Given the description of an element on the screen output the (x, y) to click on. 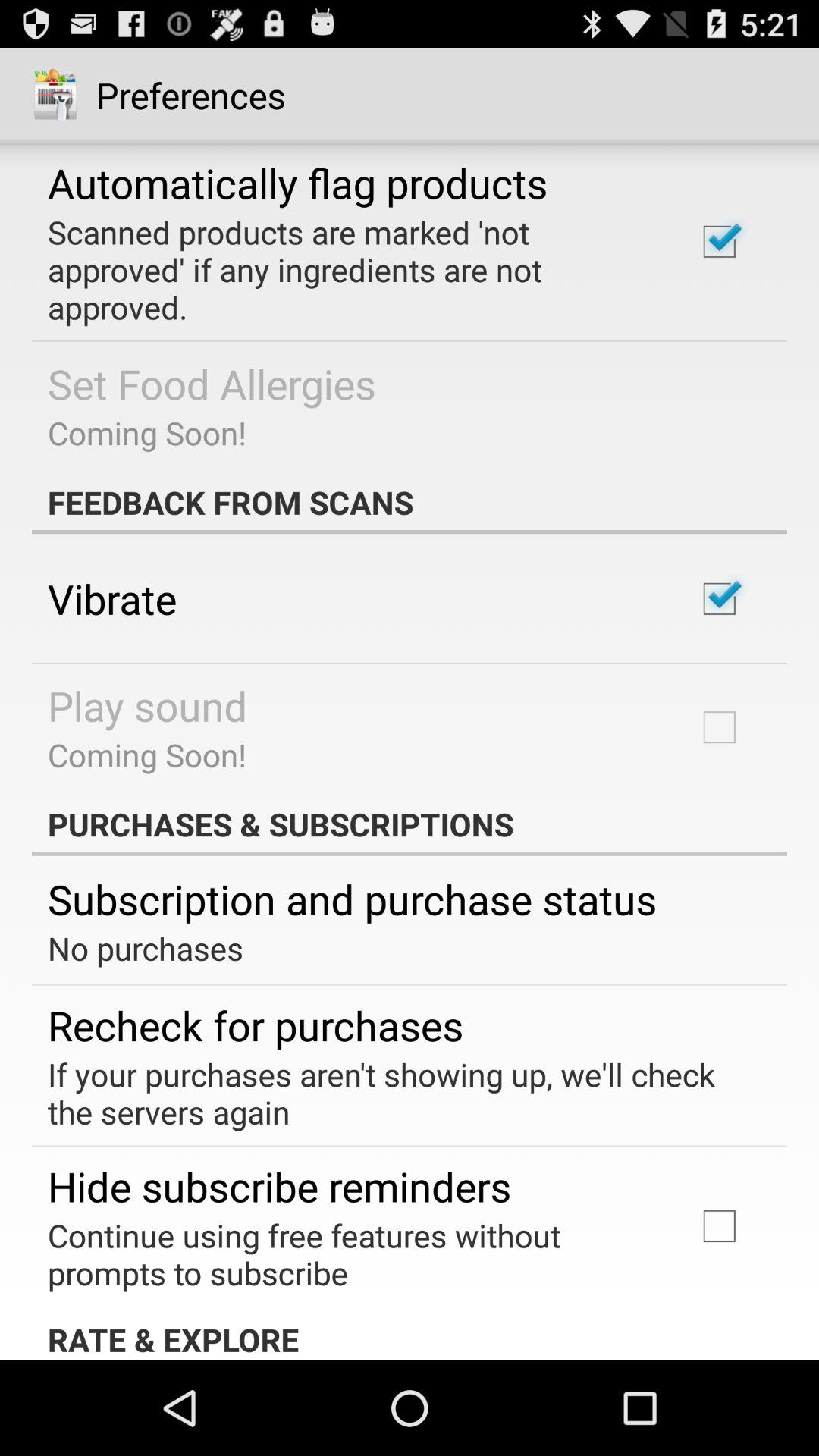
select the automatically flag products app (297, 182)
